Given the description of an element on the screen output the (x, y) to click on. 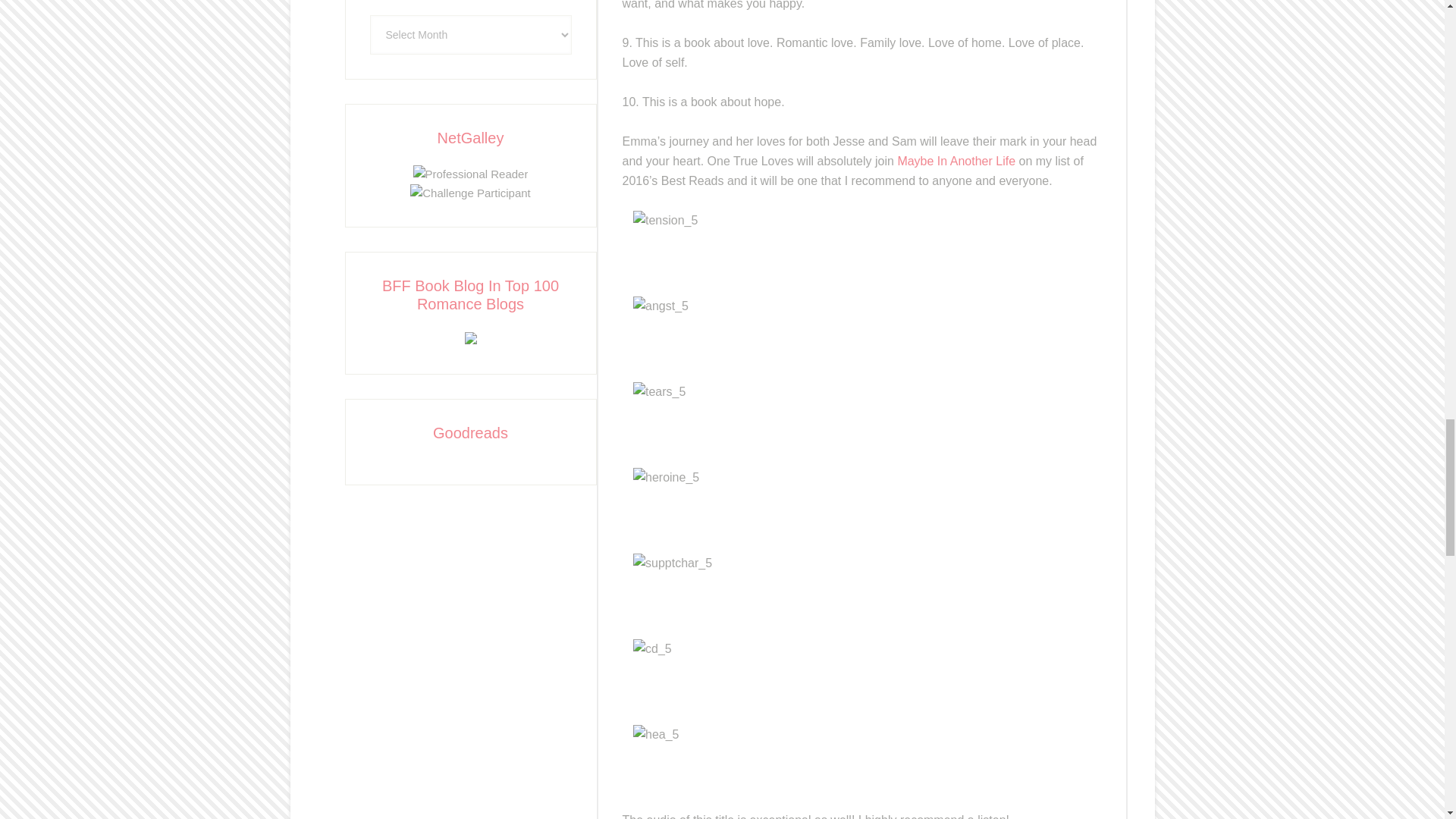
Romance blogs (470, 339)
Maybe In Another Life (955, 160)
Challenge Participant (470, 193)
Professional Reader (470, 174)
